Given the description of an element on the screen output the (x, y) to click on. 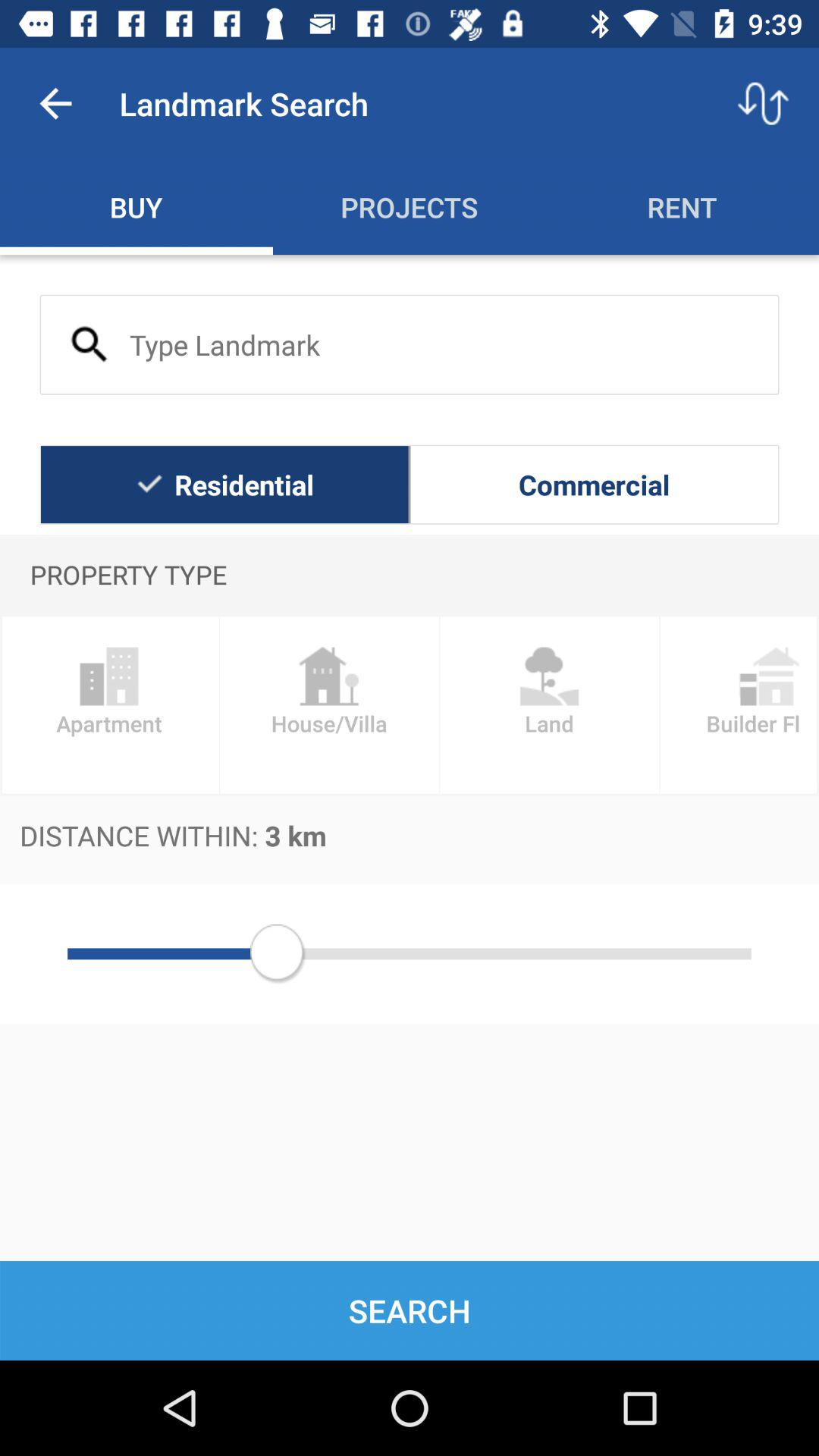
launch the item above the distance within 3 item (739, 704)
